Given the description of an element on the screen output the (x, y) to click on. 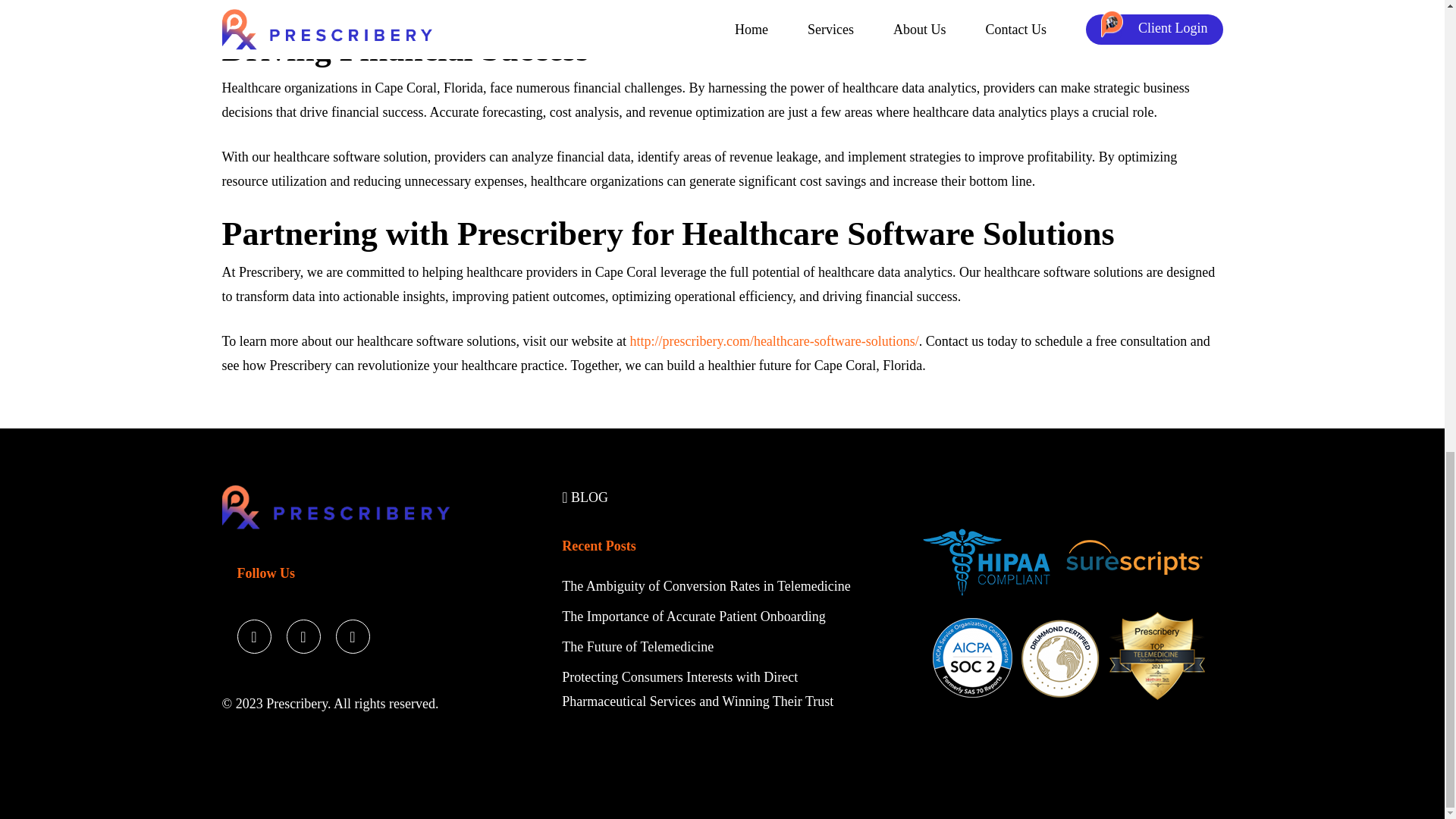
facebook (303, 632)
BLOG (585, 497)
The Future of Telemedicine (637, 646)
The Ambiguity of Conversion Rates in Telemedicine  (707, 585)
twitter (252, 632)
LinkedIn (351, 632)
The Importance of Accurate Patient Onboarding (693, 616)
